Given the description of an element on the screen output the (x, y) to click on. 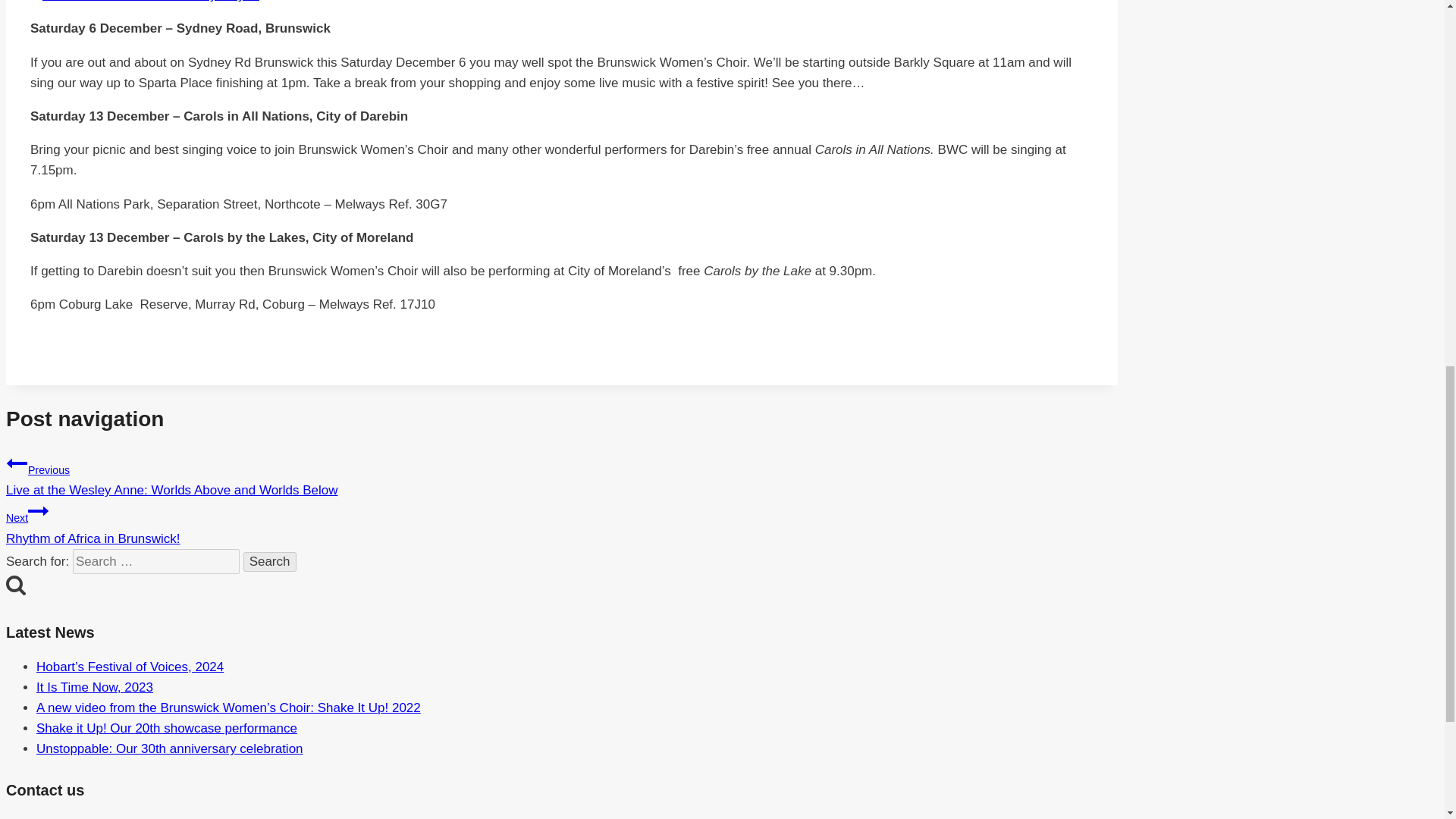
Search (270, 561)
Previous (16, 463)
It Is Time Now, 2023 (94, 687)
Search (270, 561)
Continue (37, 510)
Unstoppable: Our 30th anniversary celebration (169, 748)
Search (270, 561)
Search (15, 584)
Shake it Up! Our 20th showcase performance (166, 728)
